Given the description of an element on the screen output the (x, y) to click on. 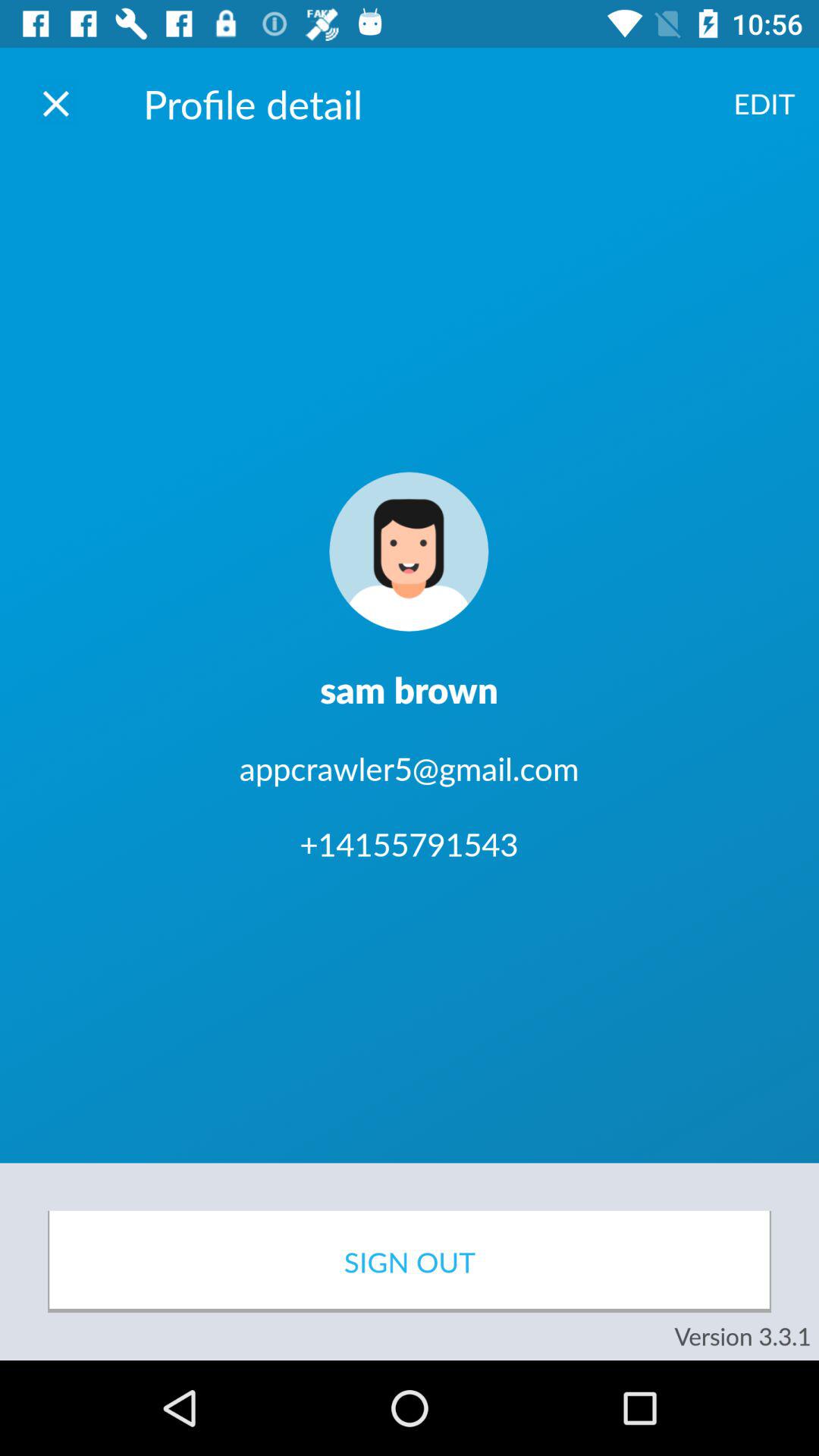
tap sign out (409, 1261)
